Given the description of an element on the screen output the (x, y) to click on. 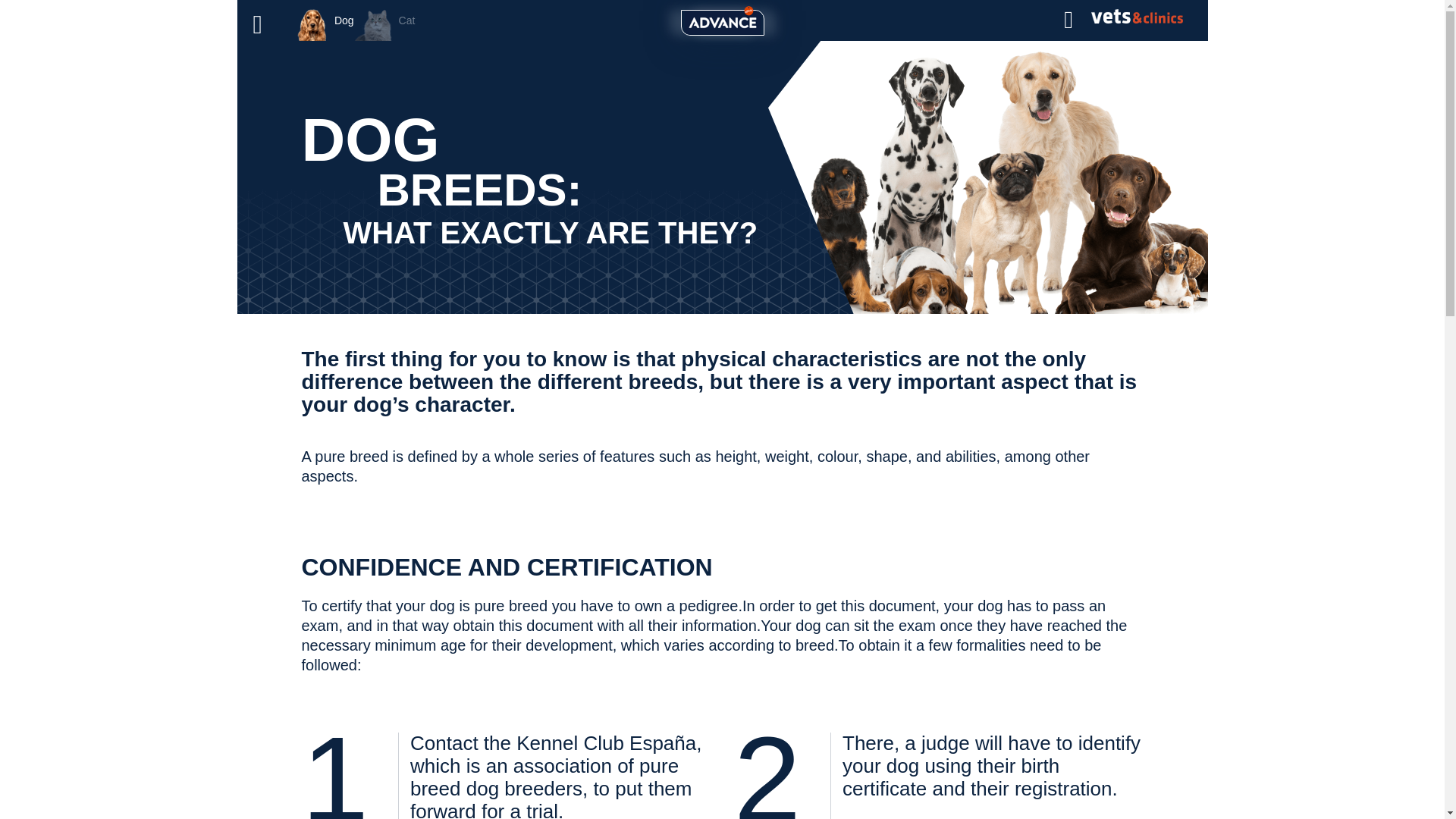
Cat (383, 20)
Dog (325, 20)
